Given the description of an element on the screen output the (x, y) to click on. 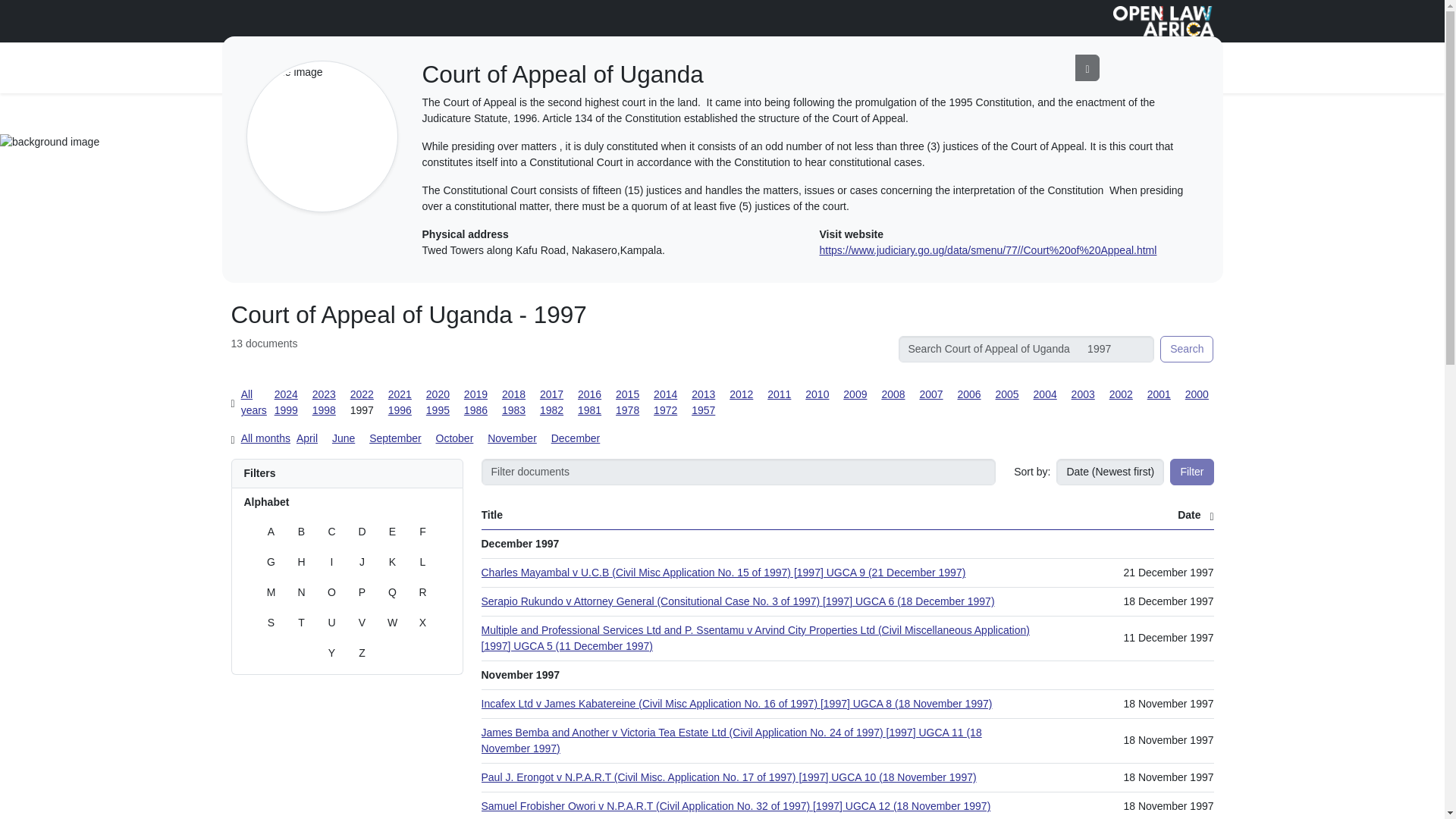
2014 (665, 394)
2001 (1158, 394)
2019 (475, 394)
2021 (400, 394)
2017 (551, 394)
Search (1186, 348)
Judgments (256, 112)
All years (253, 402)
Gazettes (561, 67)
About (608, 67)
2013 (702, 394)
Search (1186, 348)
2024 (286, 394)
Collections (502, 67)
Court of Appeal of Uganda (360, 112)
